Given the description of an element on the screen output the (x, y) to click on. 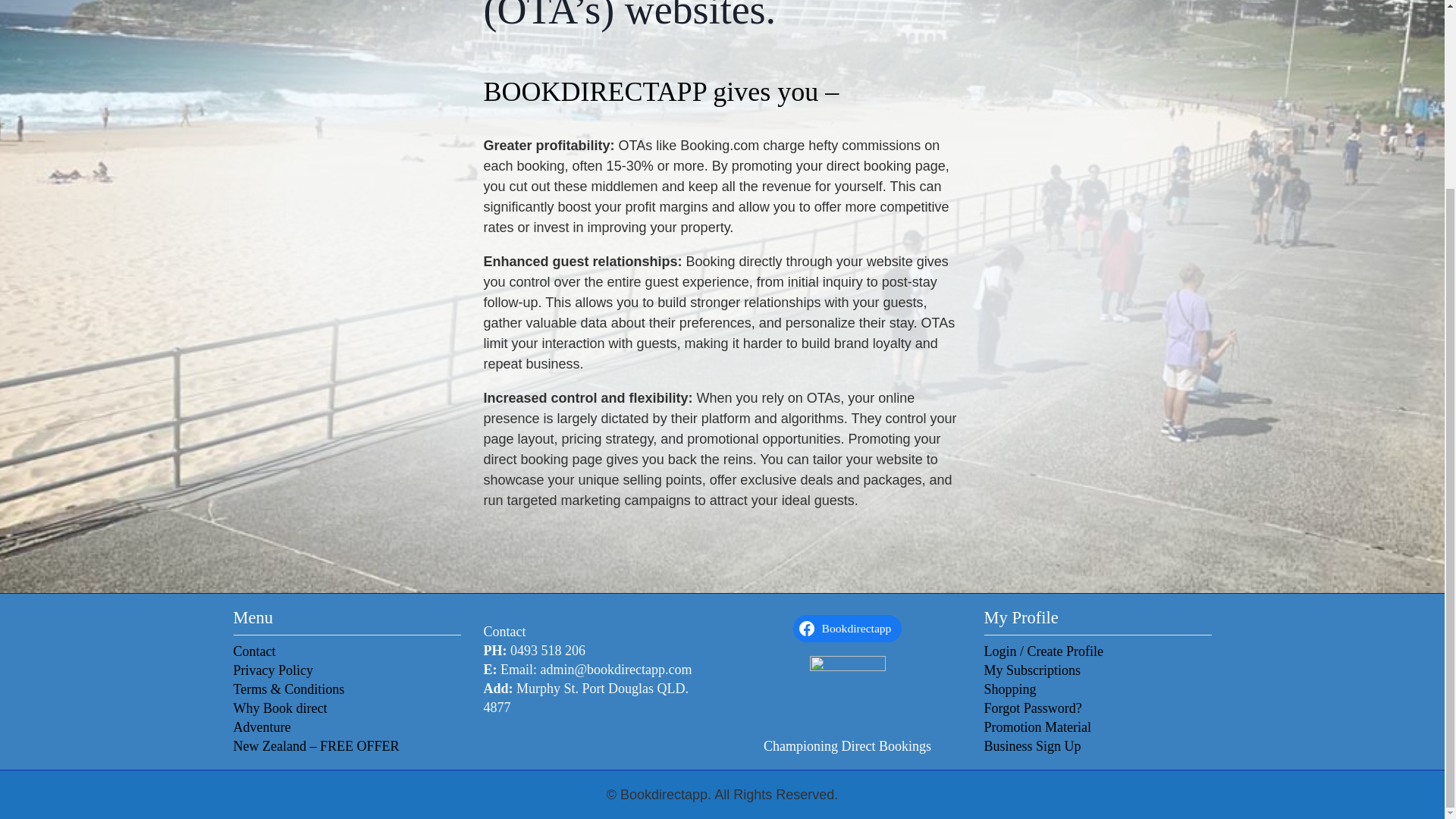
Business Sign Up (1097, 746)
Promotion Material (1097, 727)
Bookdirectapp (847, 628)
Adventure (346, 727)
Privacy Policy (346, 670)
Contact (346, 651)
My Subscriptions (1097, 670)
Why Book direct (346, 708)
Shopping (1097, 689)
Forgot Password? (1097, 708)
